Given the description of an element on the screen output the (x, y) to click on. 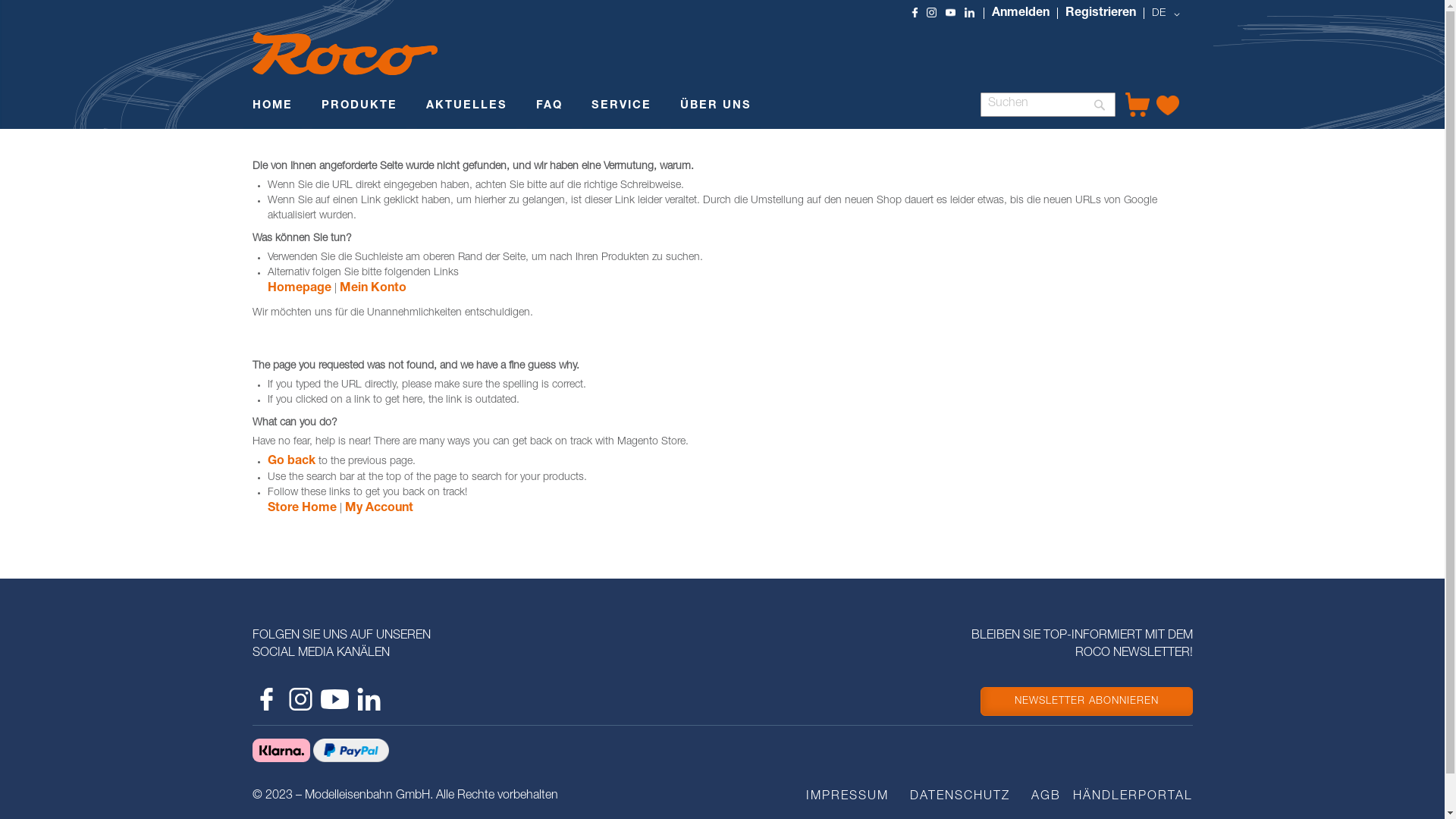
Klarna Element type: hover (280, 750)
Store Home Element type: text (300, 508)
instagram.com/rococc Element type: hover (300, 698)
linkedin.com/modelleisenbahn-gmbh Element type: hover (368, 698)
HOME Element type: text (271, 107)
facebook.com/roco.cc Element type: hover (265, 698)
Registrieren Element type: text (1100, 12)
NEWSLETTER ABONNIEREN Element type: text (1085, 701)
Suche Element type: text (1098, 104)
Anmelden Element type: text (1019, 12)
FAQ Element type: text (548, 107)
SERVICE Element type: text (621, 107)
Homepage Element type: text (298, 288)
AKTUELLES Element type: text (466, 107)
youtube.com/RocoModellbahnen Element type: hover (334, 698)
Roco Element type: hover (343, 53)
My Account Element type: text (378, 508)
PRODUKTE Element type: text (359, 107)
Mein Warenkorb Element type: text (1137, 104)
Mein Konto Element type: text (372, 288)
Go back Element type: text (290, 461)
